Given the description of an element on the screen output the (x, y) to click on. 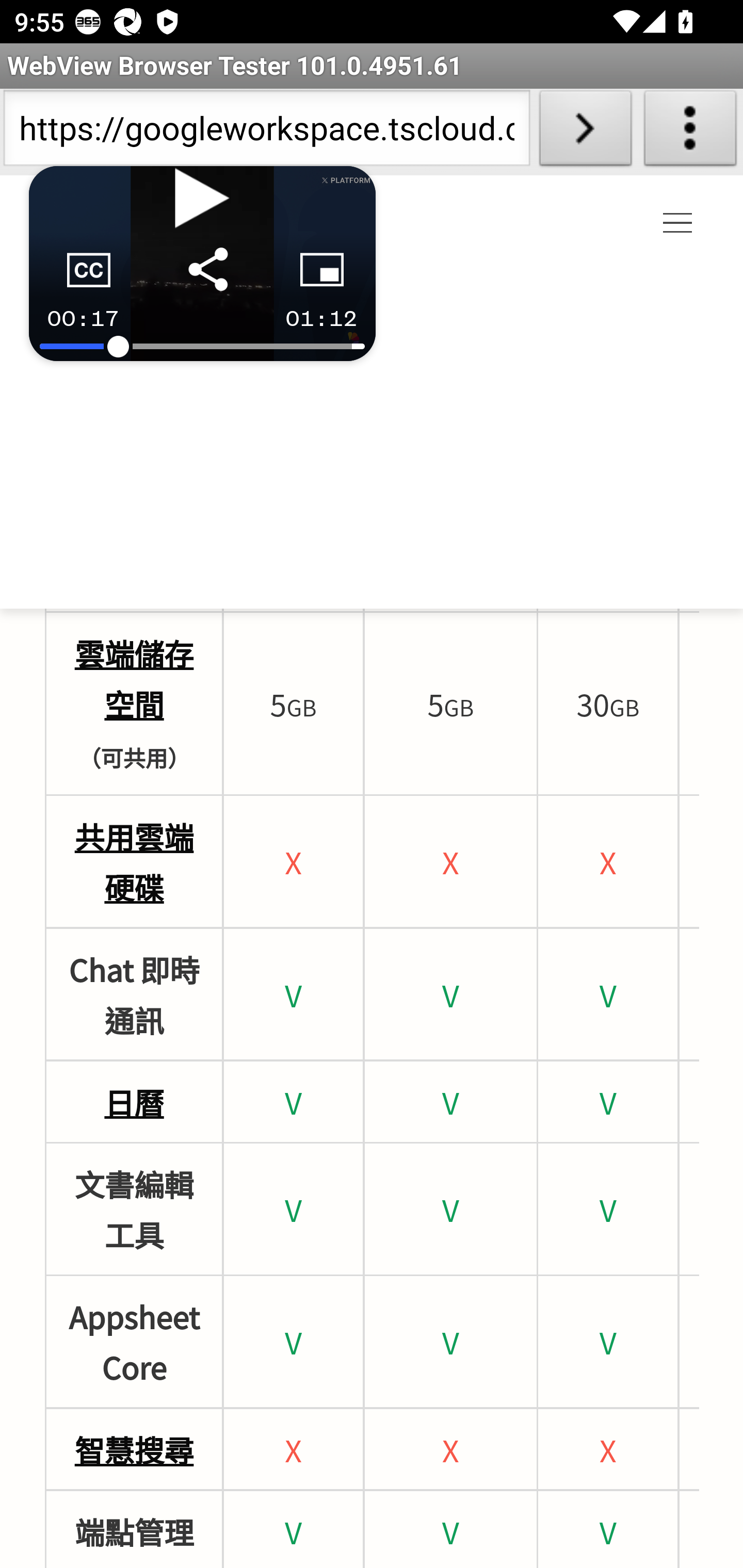
Load URL (585, 132)
About WebView (690, 132)
javascript:void(0) (677, 223)
雲端儲存空間 (133, 677)
共用雲端硬碟 (133, 861)
日曆 (133, 1101)
智慧搜尋 (133, 1448)
